Given the description of an element on the screen output the (x, y) to click on. 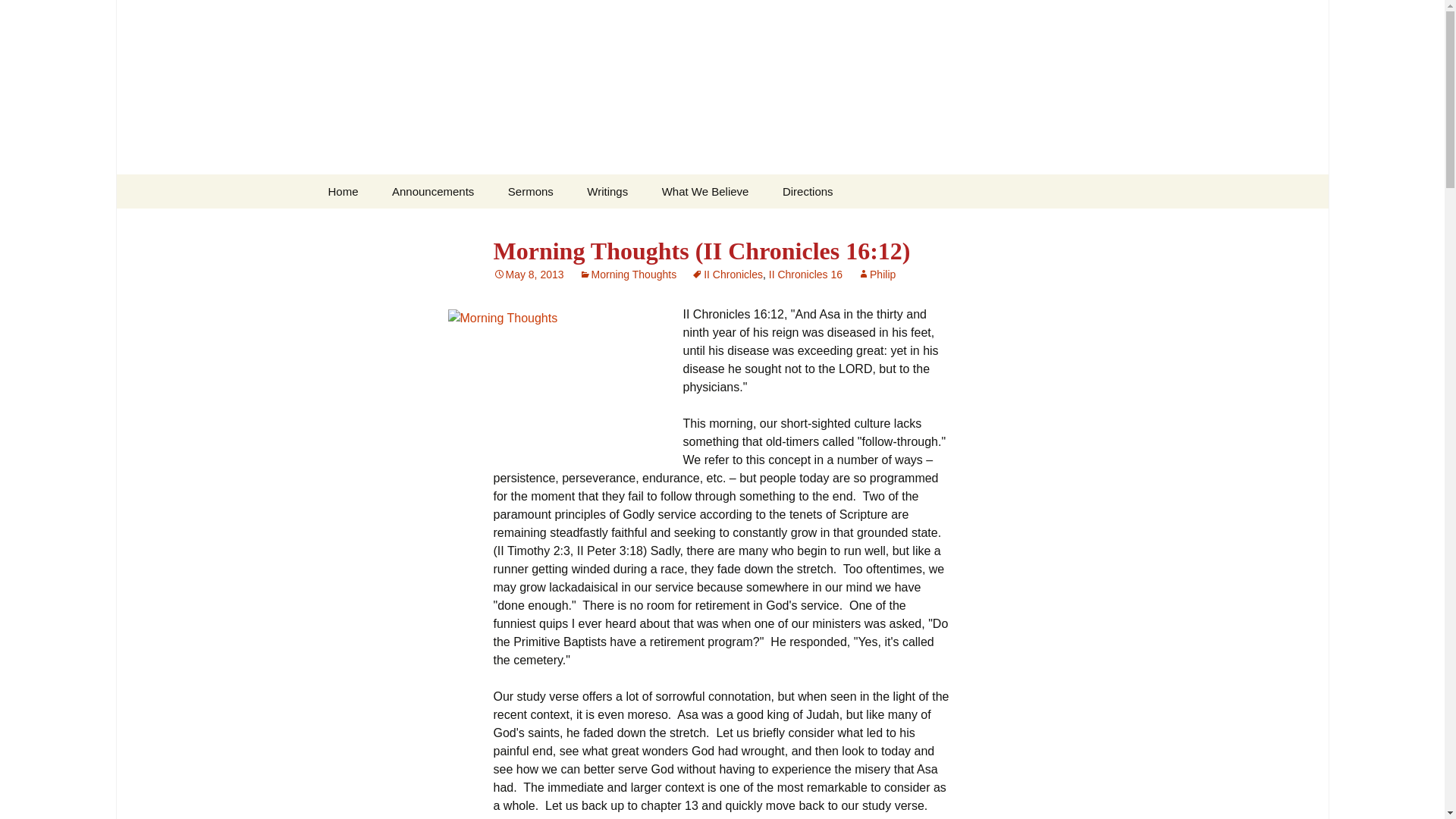
What We Believe (705, 191)
Philip (876, 274)
Directions (807, 191)
View all posts by Philip (876, 274)
Sermons (531, 191)
Morning Thoughts (628, 274)
May 8, 2013 (528, 274)
II Chronicles 16 (805, 274)
II Chronicles (726, 274)
Writings (607, 191)
Home (342, 191)
Announcements (433, 191)
Search (18, 15)
